Given the description of an element on the screen output the (x, y) to click on. 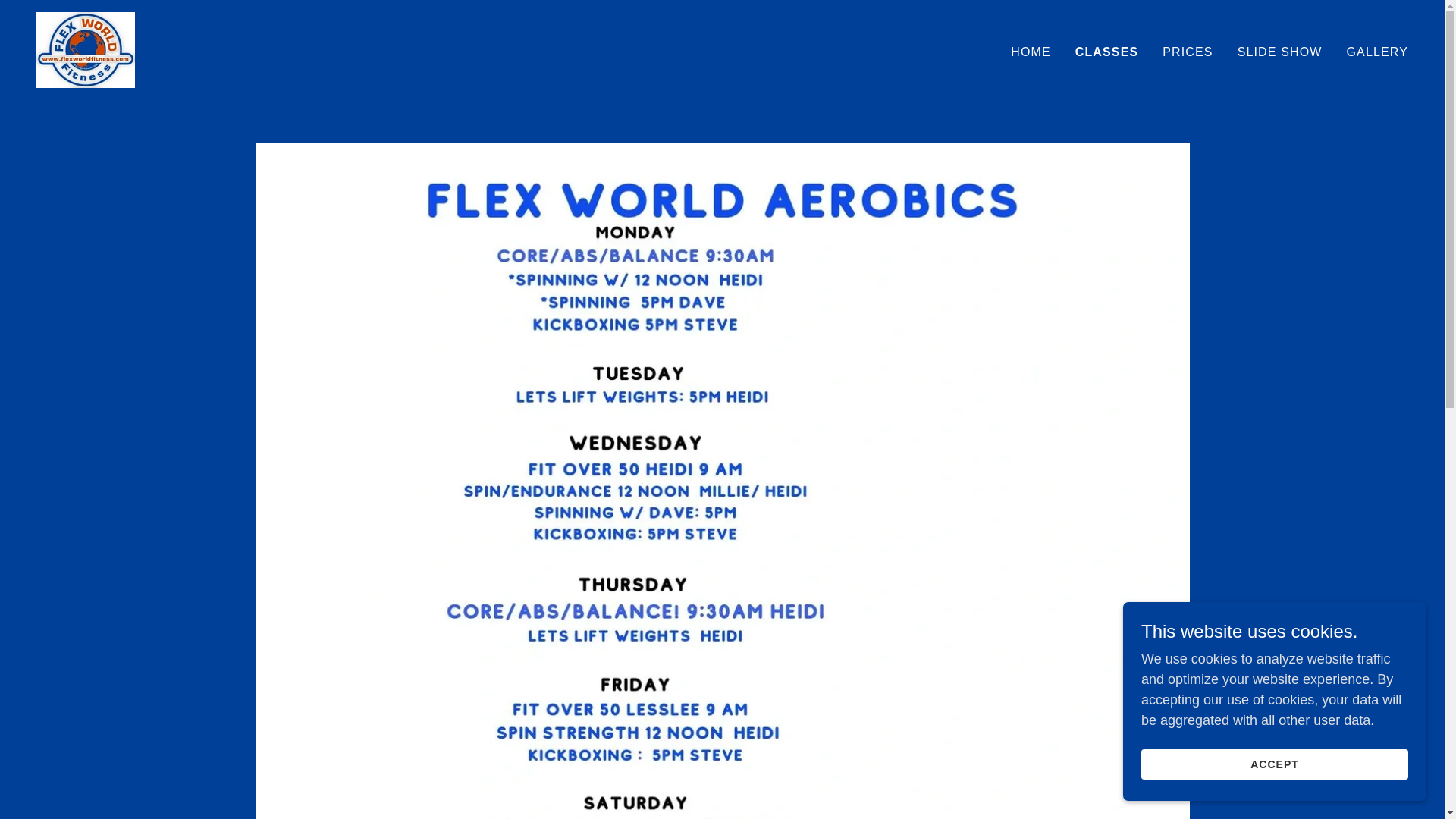
HOME (1030, 51)
CLASSES (1106, 51)
SLIDE SHOW (1279, 51)
PRICES (1187, 51)
GALLERY (1377, 51)
ACCEPT (1274, 764)
